Given the description of an element on the screen output the (x, y) to click on. 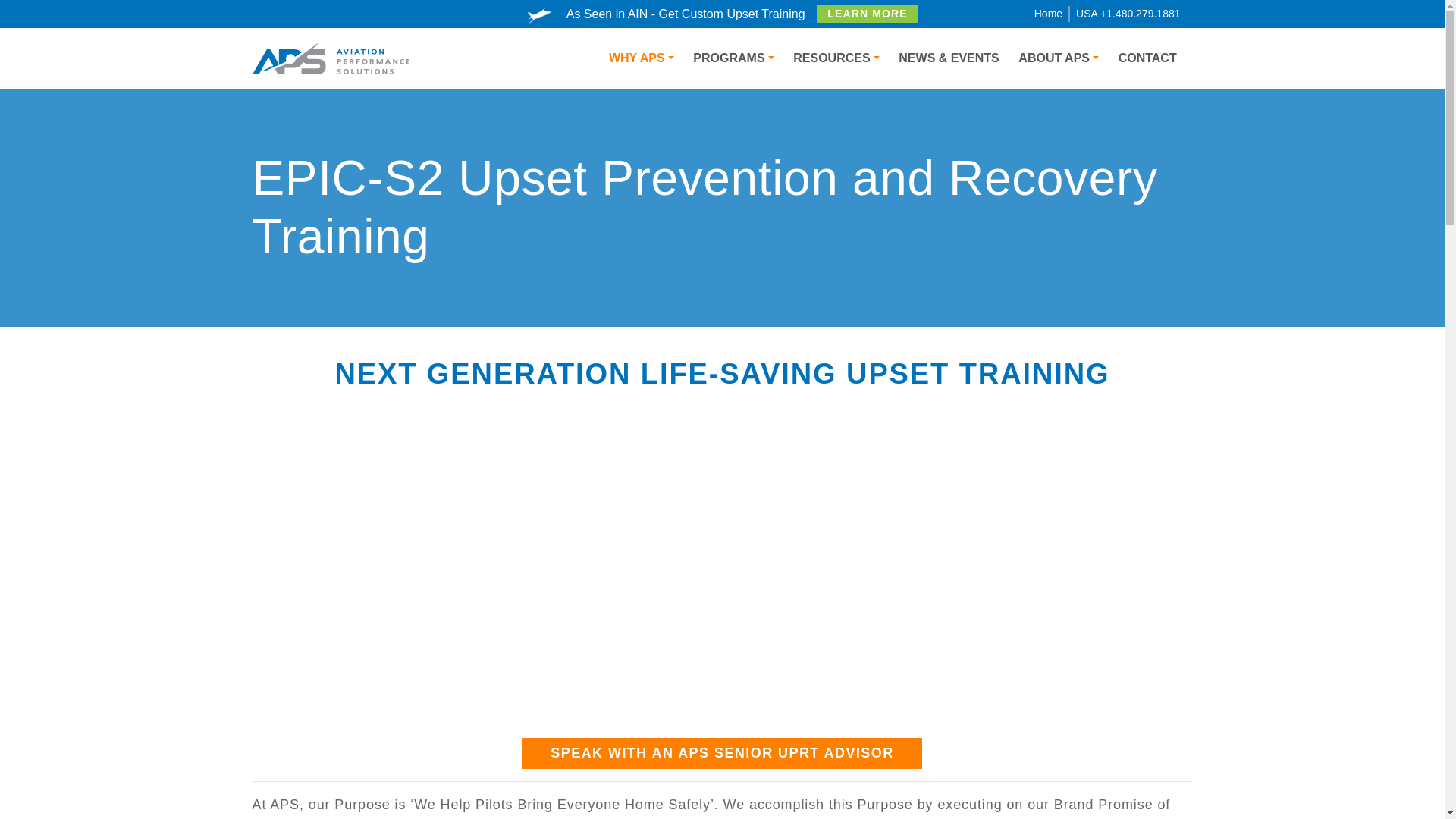
CONTACT (1147, 57)
LEARN MORE (867, 13)
ABOUT APS (1058, 57)
Programs (734, 57)
Why APS (640, 57)
WHY APS (640, 57)
Aviation Performance Solutions (330, 57)
PROGRAMS (734, 57)
RESOURCES (835, 57)
Home (1047, 13)
